Given the description of an element on the screen output the (x, y) to click on. 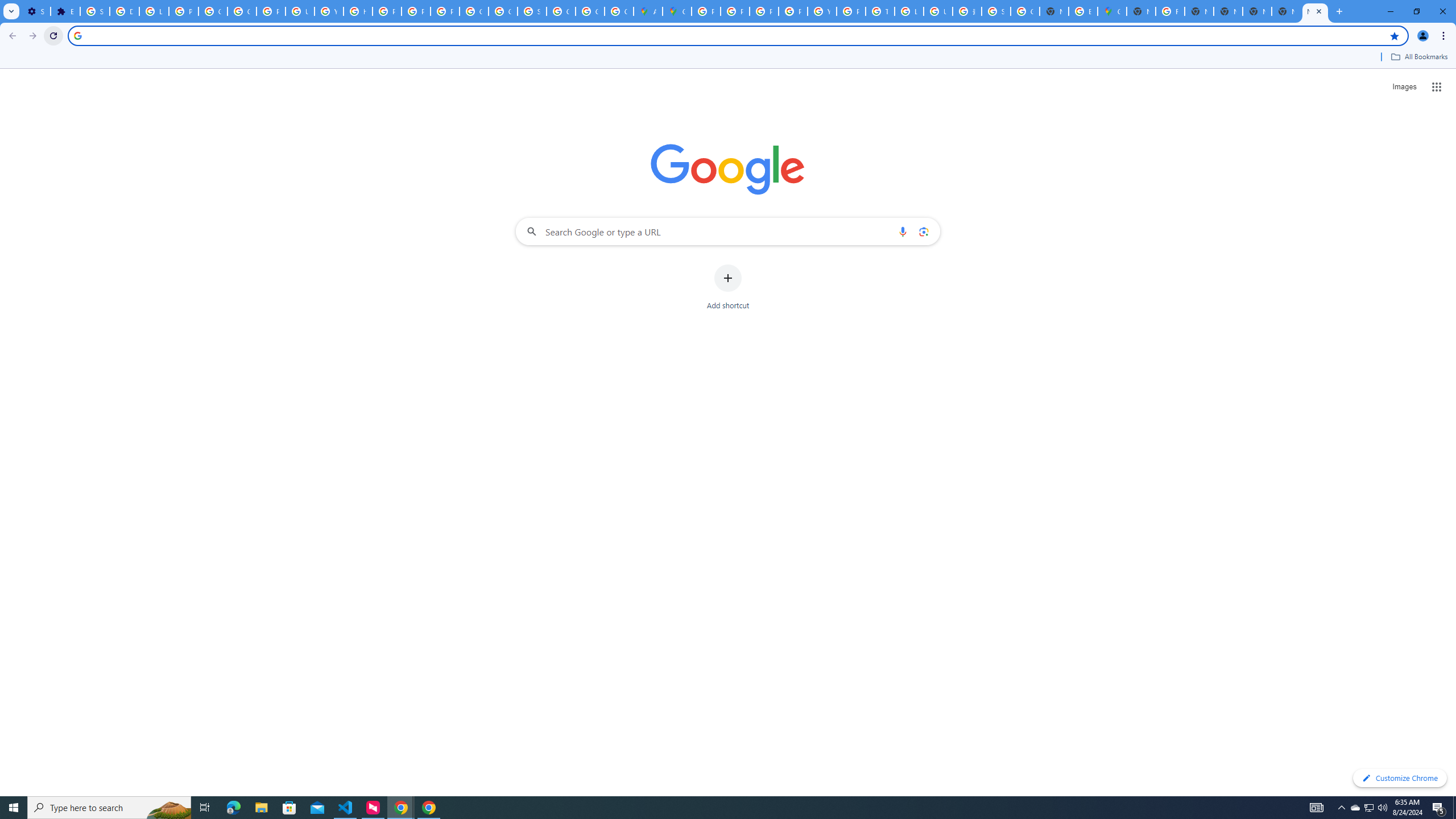
Sign in - Google Accounts (95, 11)
Settings - On startup (35, 11)
Policy Accountability and Transparency - Transparency Center (705, 11)
Search Google or type a URL (727, 230)
Create your Google Account (619, 11)
